Given the description of an element on the screen output the (x, y) to click on. 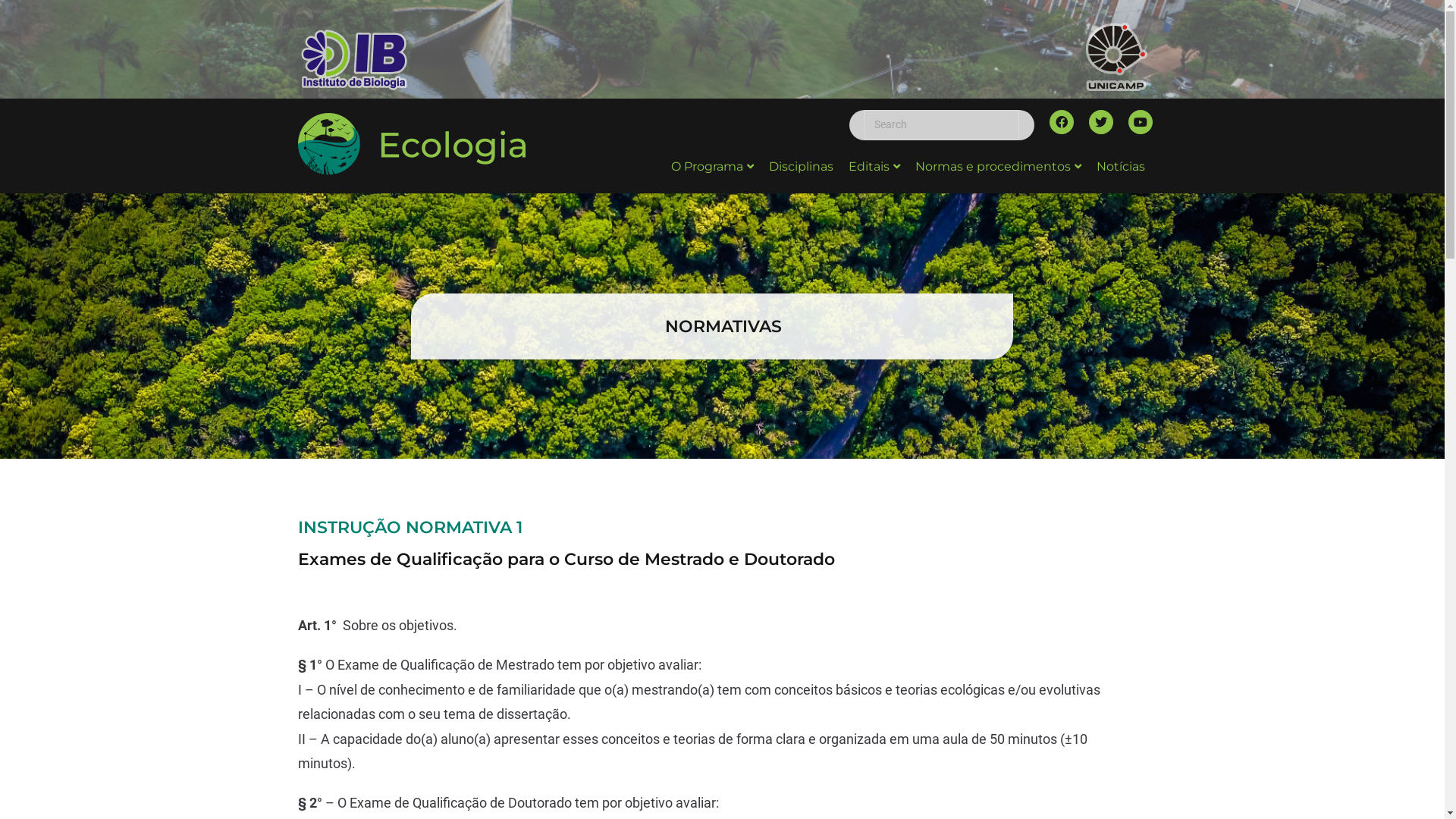
O Programa Element type: text (712, 166)
ib_cor_transparent_x Element type: hover (354, 59)
Editais Element type: text (873, 166)
Disciplinas Element type: text (800, 166)
Normas e procedimentos Element type: text (997, 166)
unicamp Element type: hover (1116, 56)
